Given the description of an element on the screen output the (x, y) to click on. 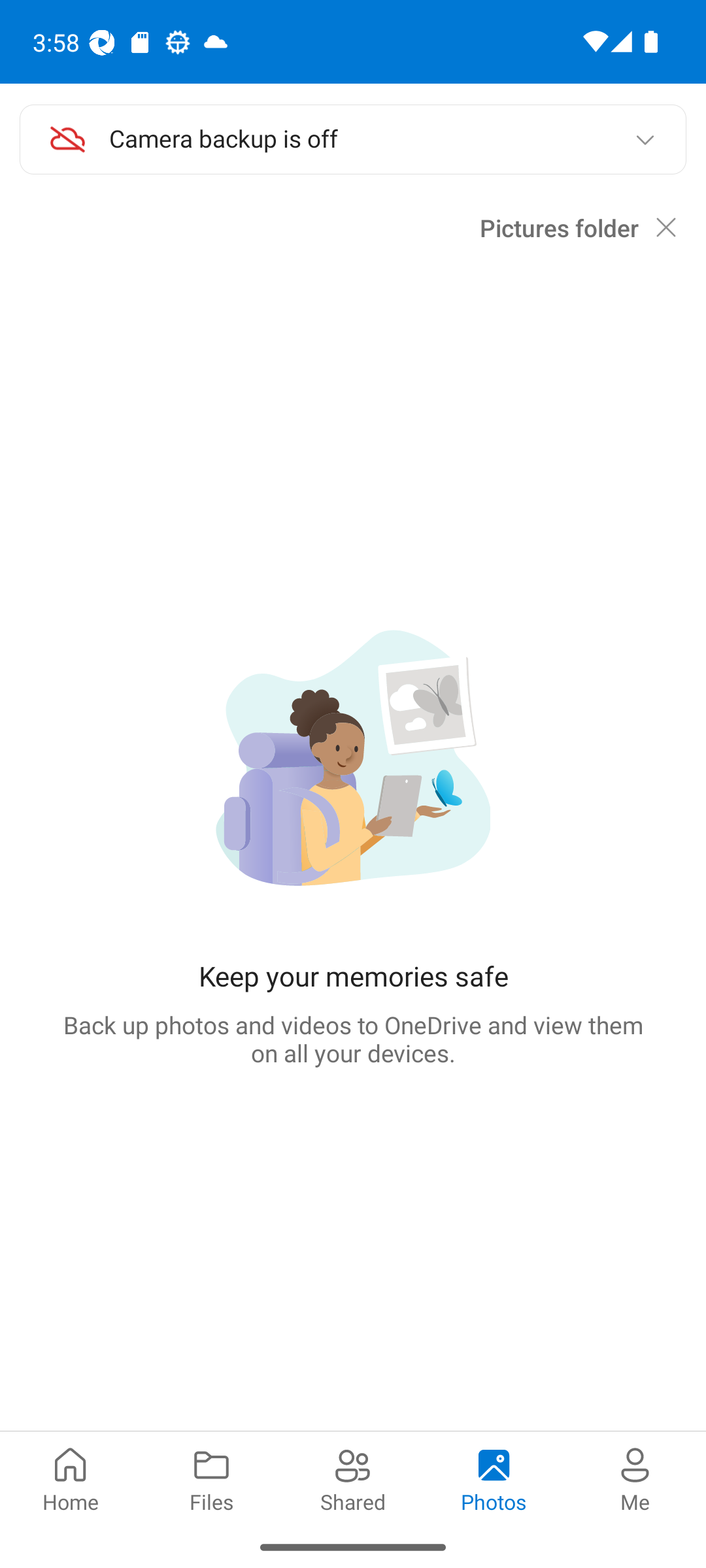
Expand camera status banner (645, 139)
Home pivot Home (70, 1478)
Files pivot Files (211, 1478)
Shared pivot Shared (352, 1478)
Me pivot Me (635, 1478)
